Given the description of an element on the screen output the (x, y) to click on. 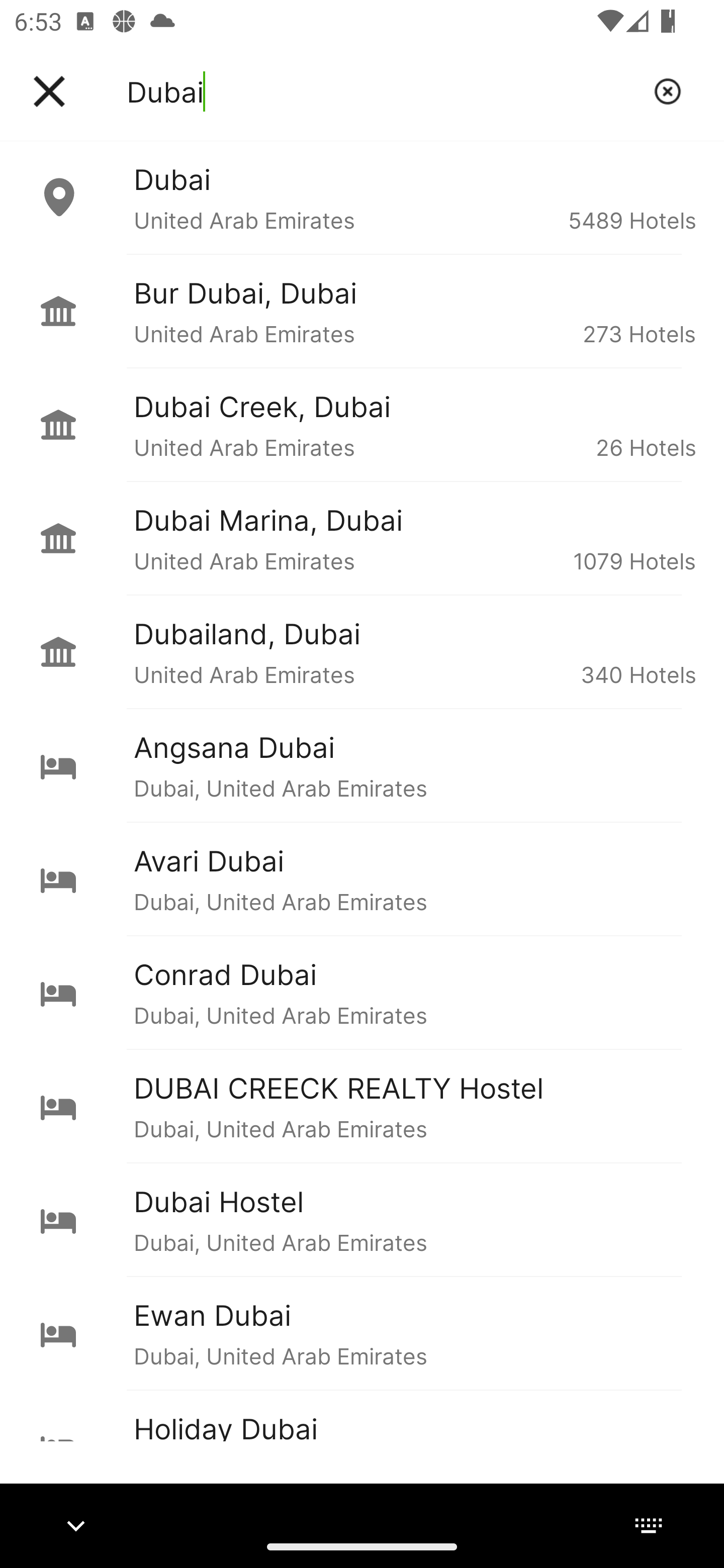
Dubai (382, 91)
Dubai United Arab Emirates 5489 Hotels (362, 197)
Bur Dubai, Dubai United Arab Emirates 273 Hotels (362, 310)
Dubai Creek, Dubai United Arab Emirates 26 Hotels (362, 424)
Dubailand, Dubai United Arab Emirates 340 Hotels (362, 651)
Angsana Dubai  Dubai, United Arab Emirates (362, 764)
Avari Dubai Dubai, United Arab Emirates (362, 878)
Conrad Dubai Dubai, United Arab Emirates (362, 992)
Dubai Hostel Dubai, United Arab Emirates (362, 1219)
Ewan Dubai Dubai, United Arab Emirates (362, 1332)
